Given the description of an element on the screen output the (x, y) to click on. 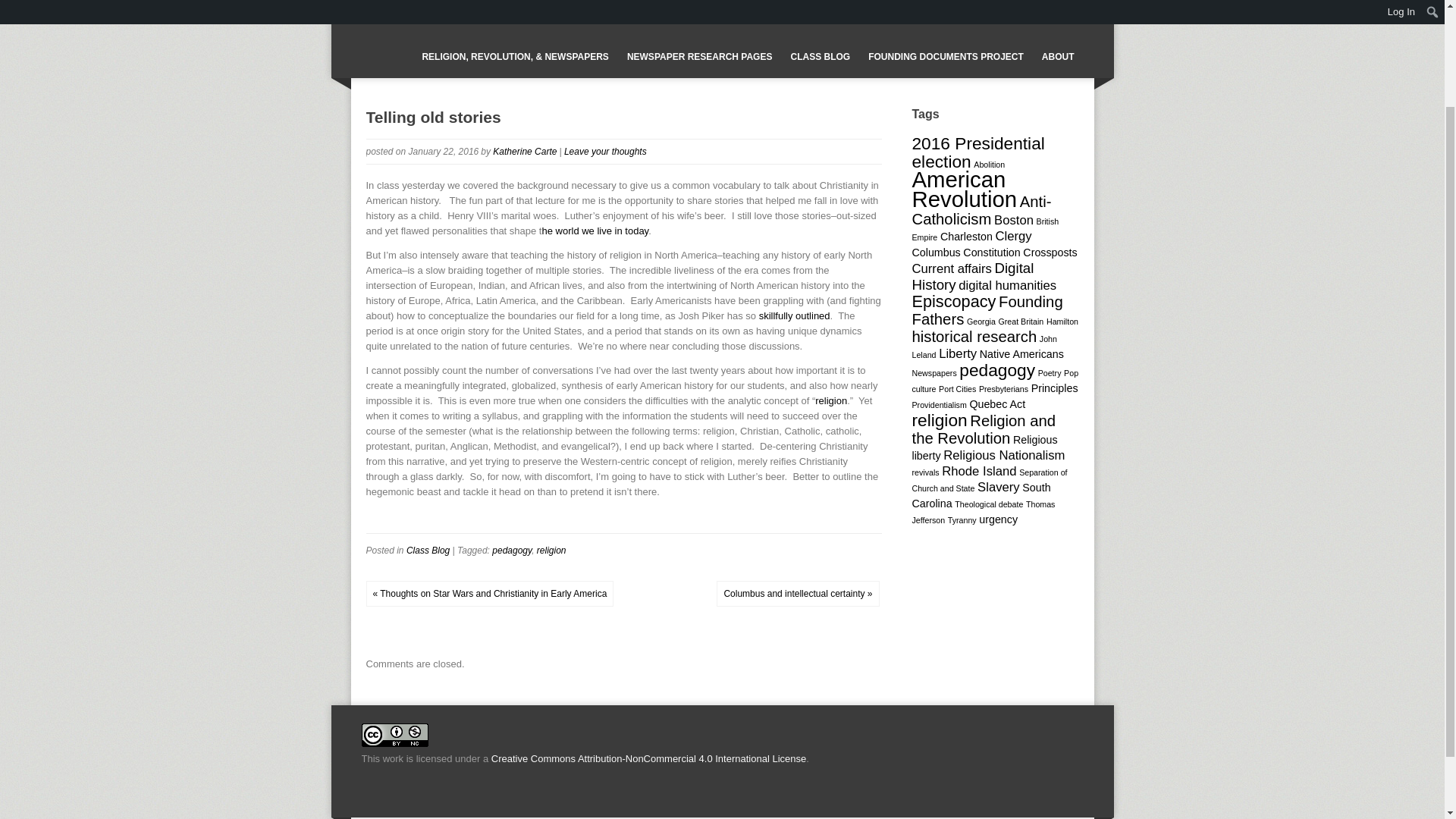
Crossposts (1050, 252)
Georgia (980, 320)
Great Britain (1020, 320)
Liberty (957, 353)
Current affairs (951, 268)
Hamilton (1062, 320)
Clergy (1013, 236)
Katherine Carte (524, 151)
Leave your thoughts (605, 151)
John Leland (984, 346)
